Given the description of an element on the screen output the (x, y) to click on. 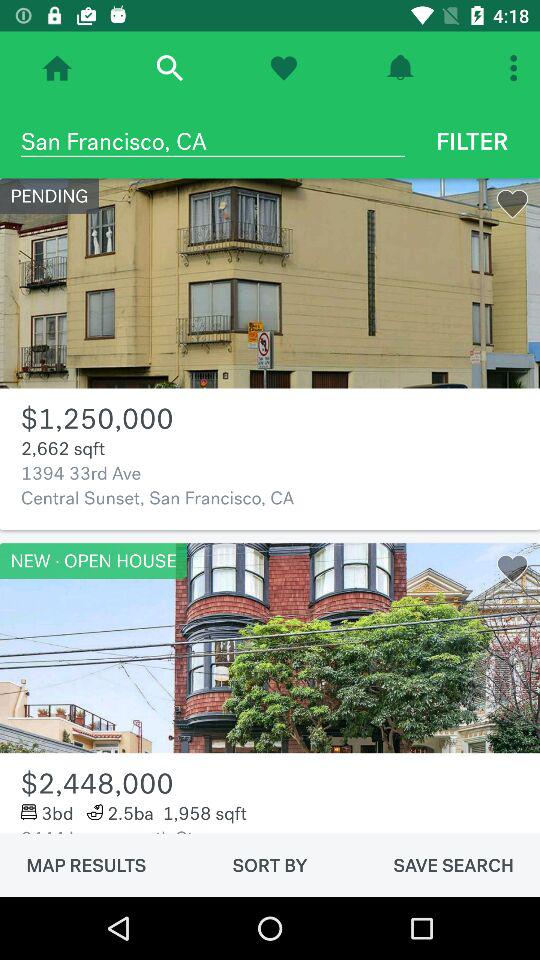
go home (57, 68)
